Given the description of an element on the screen output the (x, y) to click on. 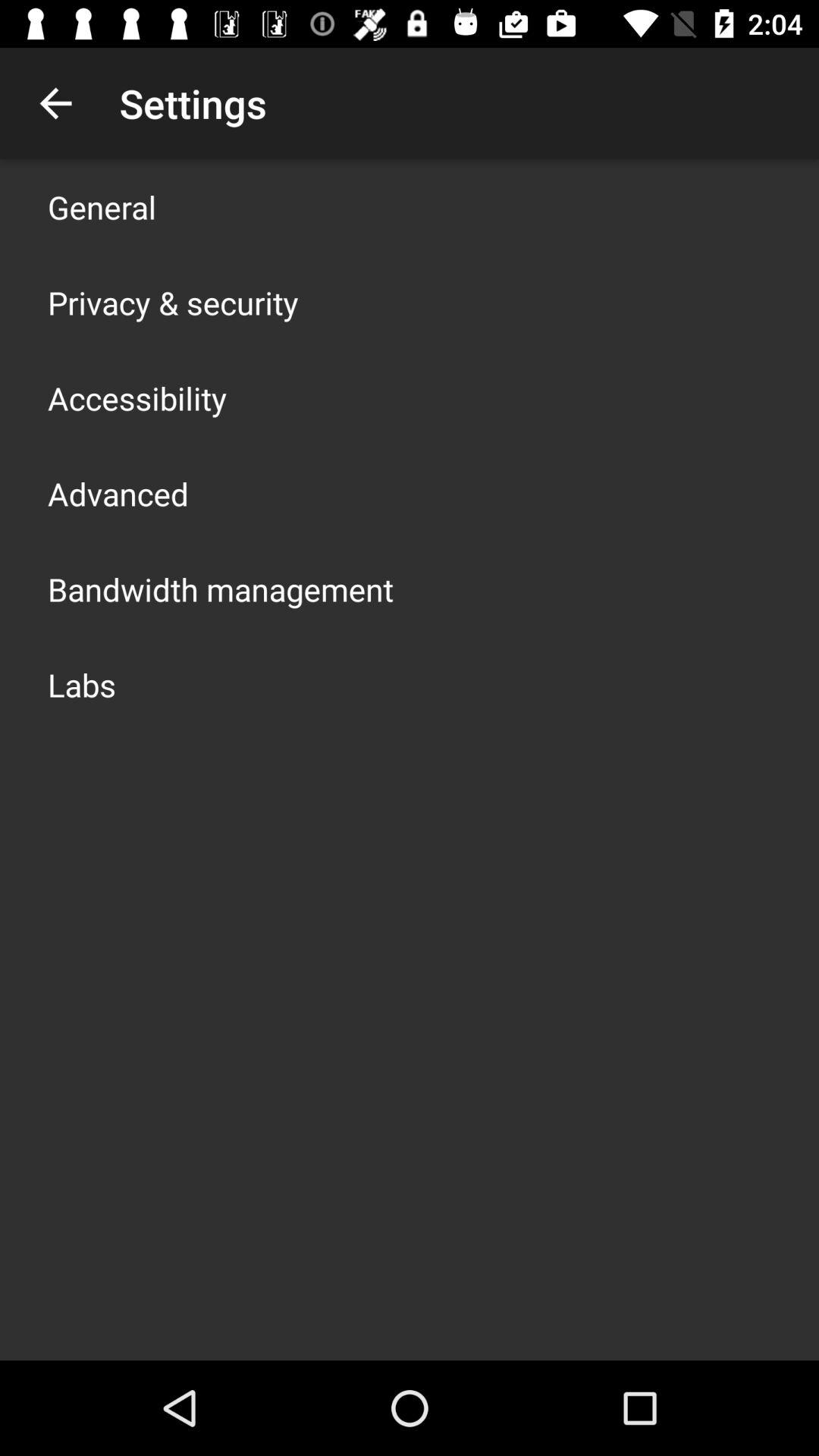
turn off the item above advanced icon (136, 397)
